Given the description of an element on the screen output the (x, y) to click on. 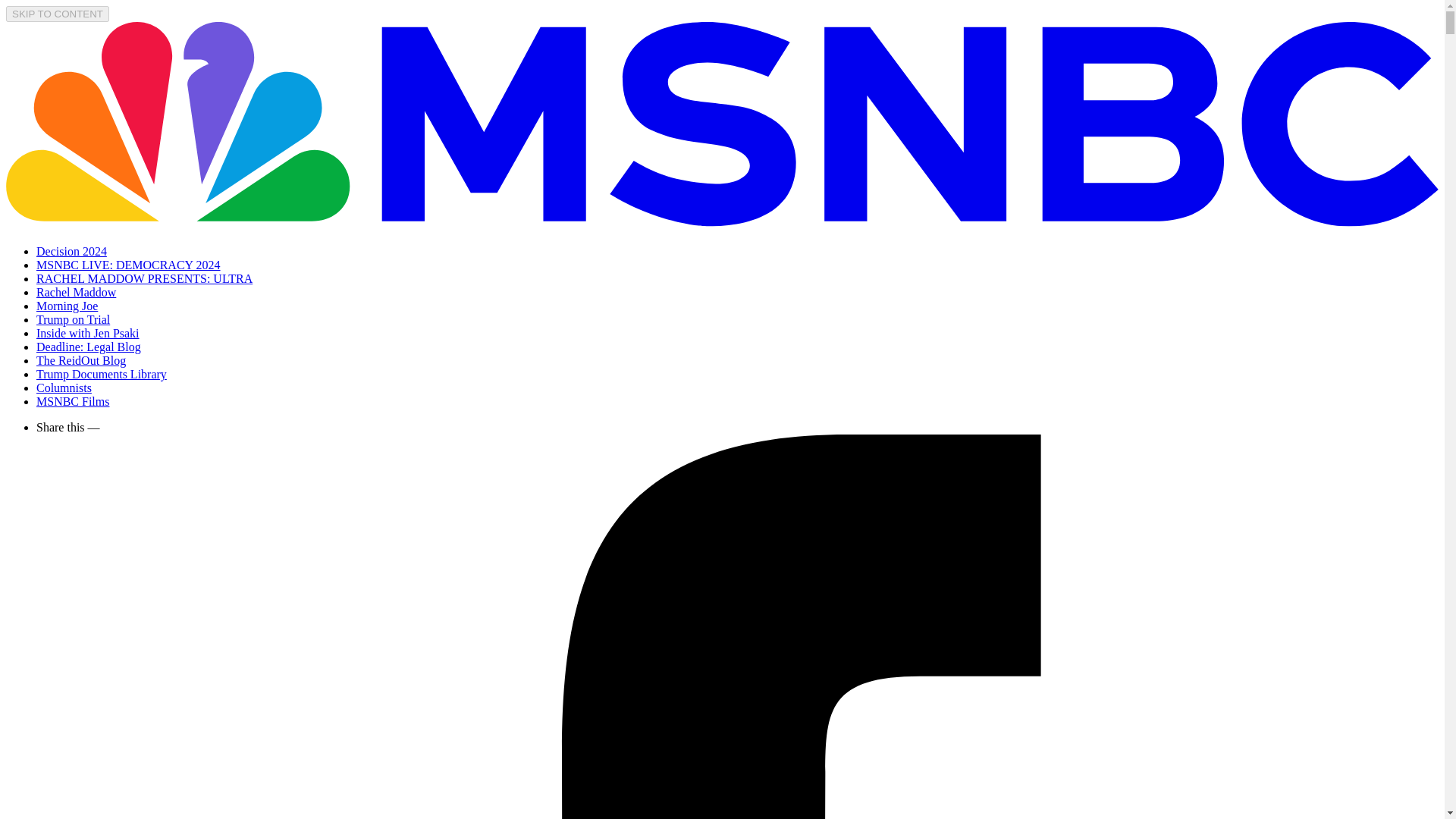
Rachel Maddow (76, 291)
MSNBC LIVE: DEMOCRACY 2024 (128, 264)
SKIP TO CONTENT (57, 13)
MSNBC Films (72, 400)
The ReidOut Blog (80, 359)
Columnists (63, 387)
Morning Joe (66, 305)
Inside with Jen Psaki (87, 332)
Deadline: Legal Blog (88, 346)
Decision 2024 (71, 250)
